Given the description of an element on the screen output the (x, y) to click on. 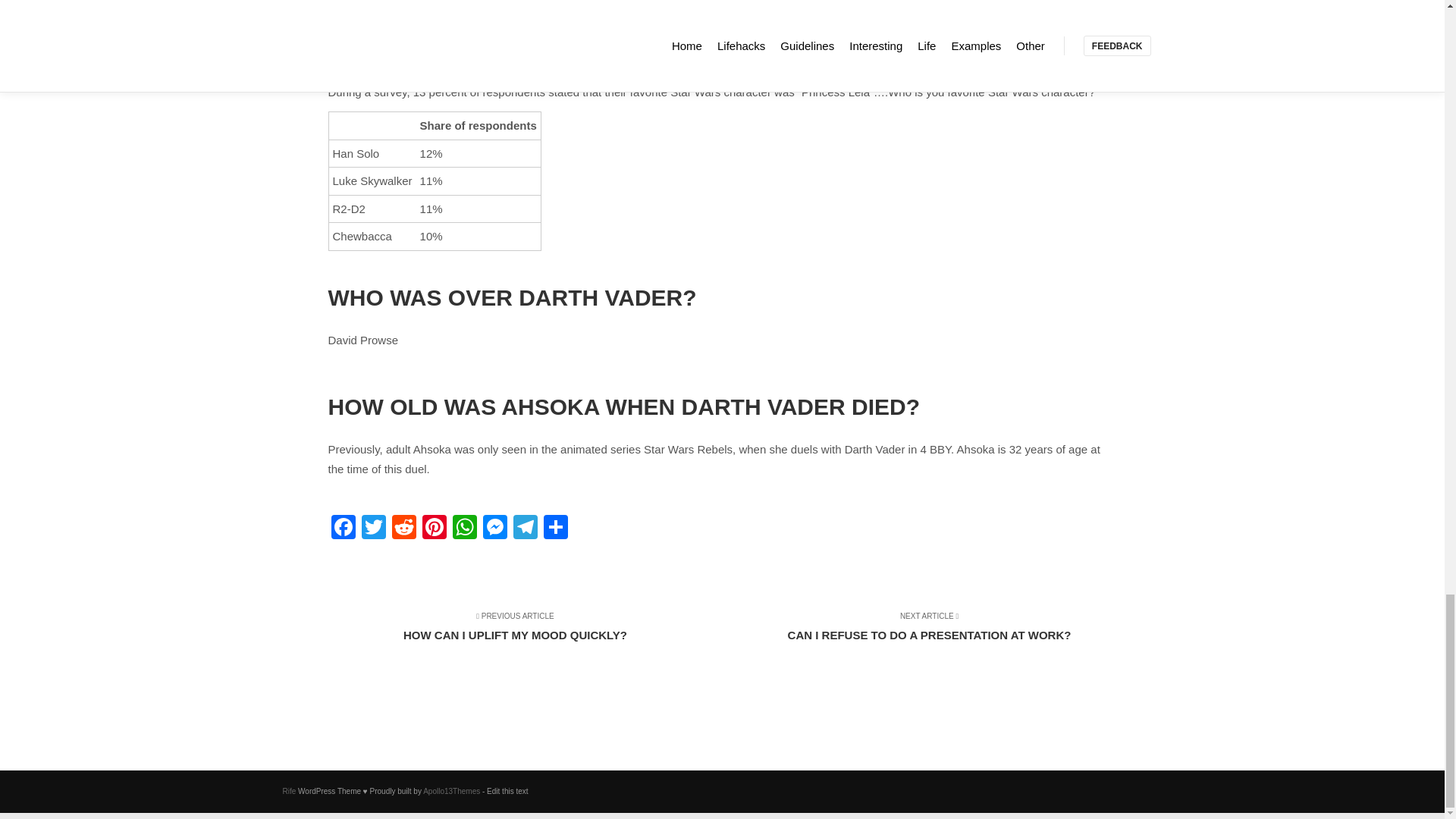
Apollo13Themes (451, 791)
Reddit (403, 528)
Reddit (403, 528)
Telegram (524, 528)
Rife (288, 791)
Messenger (494, 528)
Twitter (373, 528)
Pinterest (524, 633)
WhatsApp (433, 528)
